Given the description of an element on the screen output the (x, y) to click on. 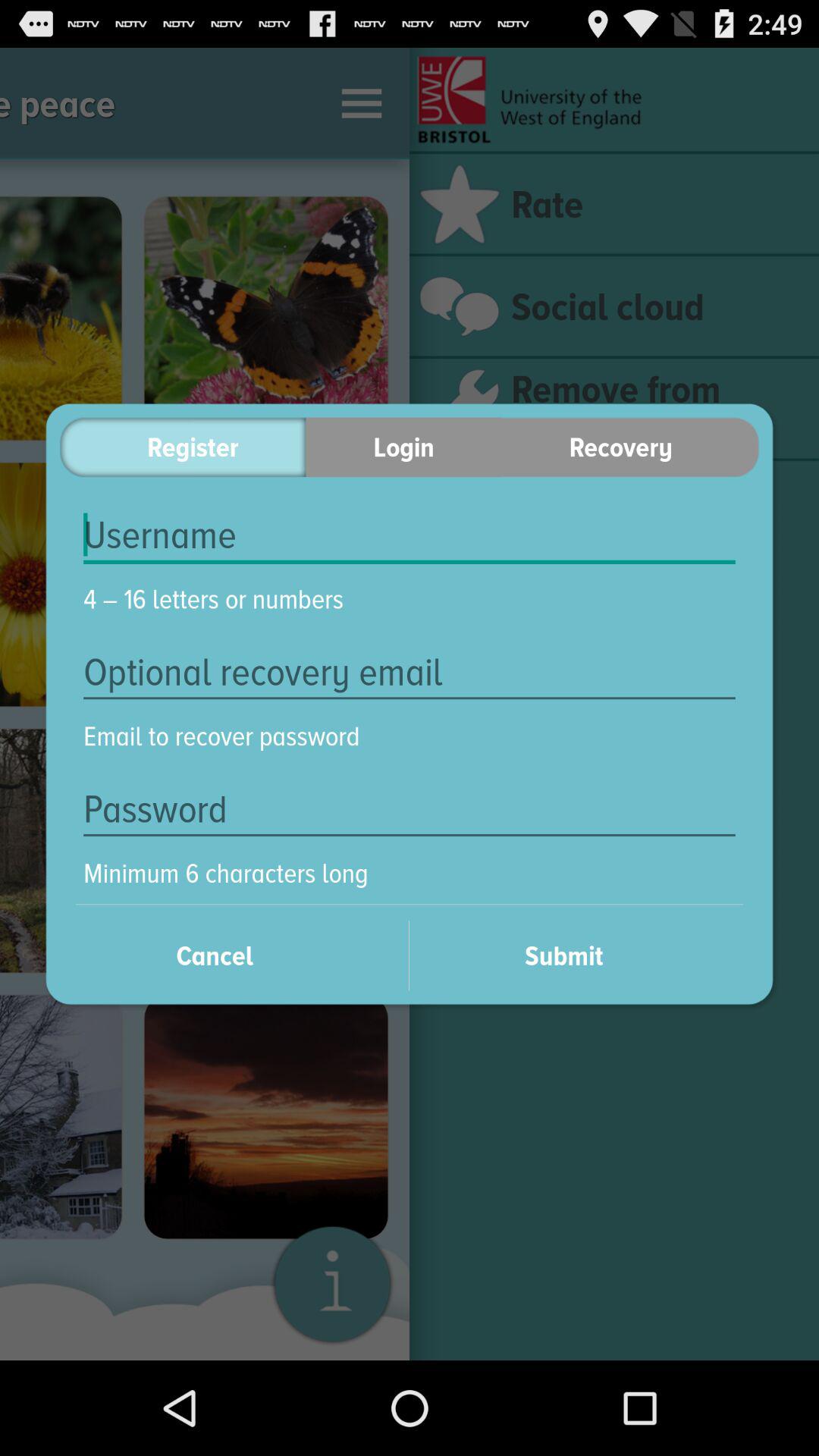
select the icon at the top (403, 447)
